Given the description of an element on the screen output the (x, y) to click on. 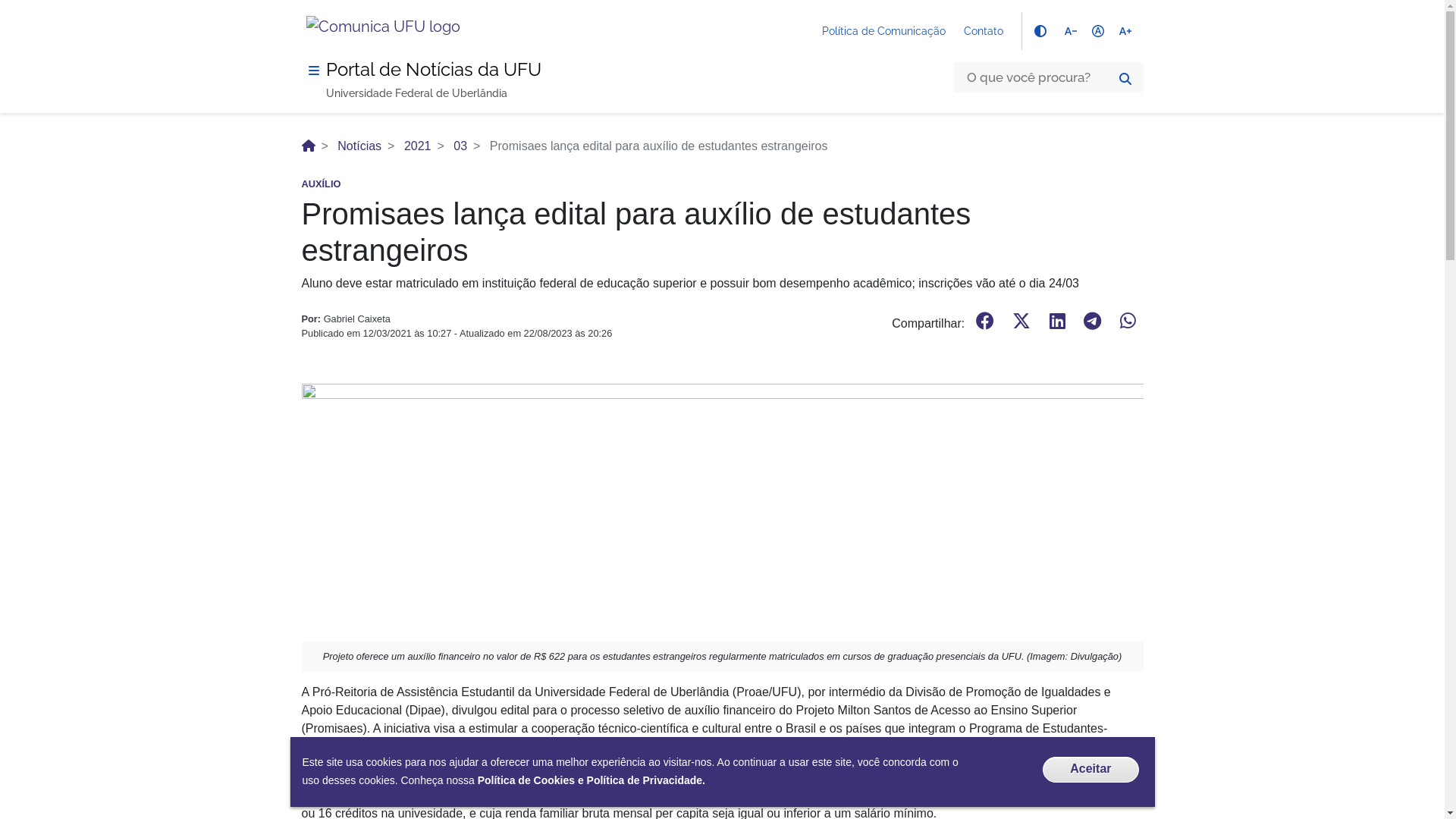
text_increase Element type: text (1125, 30)
Contato Element type: text (982, 30)
03 Element type: text (460, 145)
Buscar Element type: text (1125, 78)
2021 Element type: text (417, 145)
hdr_auto Element type: text (1097, 30)
Aceitar Element type: text (1090, 769)
text_decrease Element type: text (1070, 30)
